Given the description of an element on the screen output the (x, y) to click on. 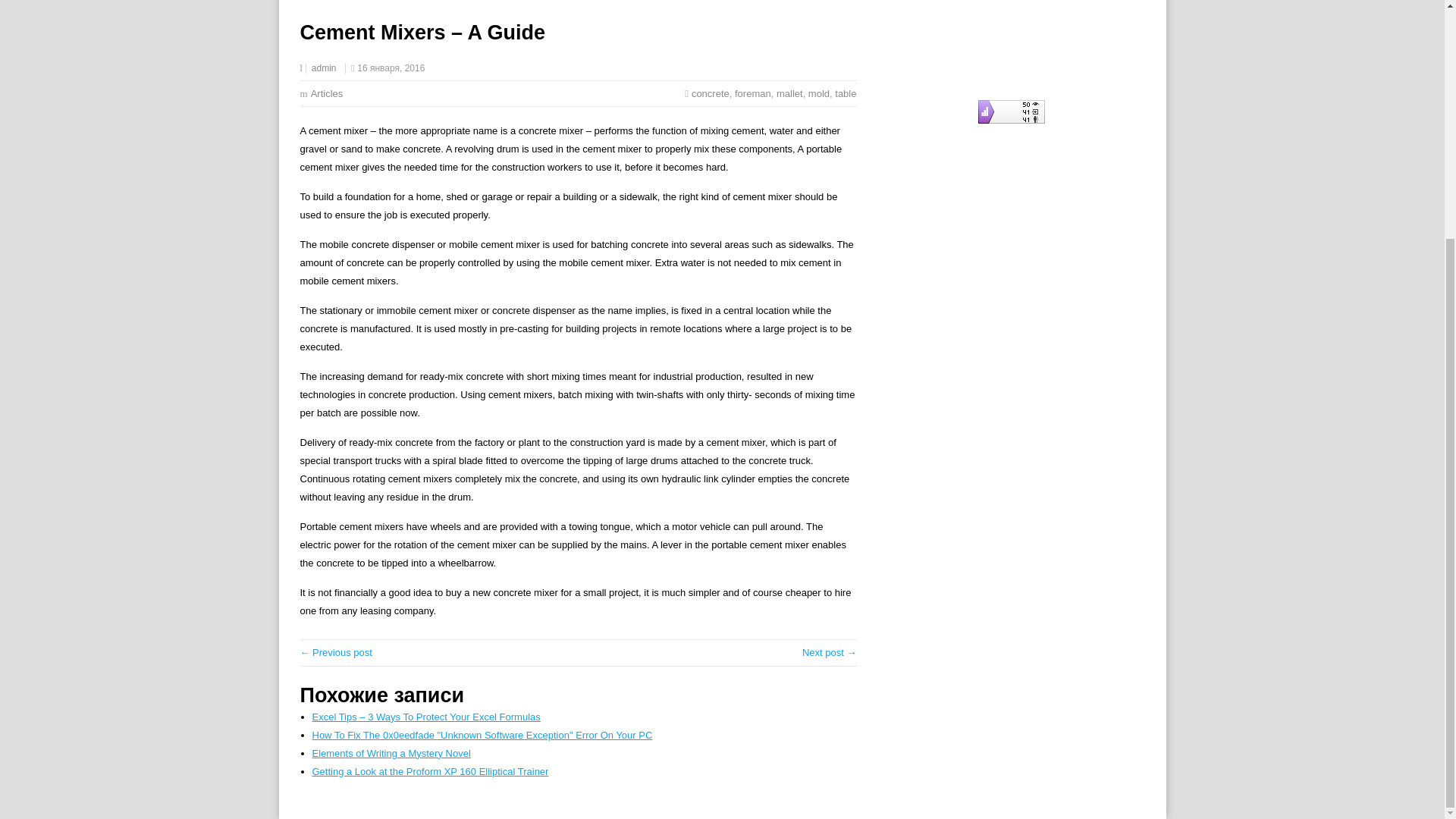
concrete (710, 93)
mallet (789, 93)
Elements of Writing a Mystery Novel (391, 753)
3 Primary Causes of Broken Bolts (829, 652)
admin (323, 68)
mold (818, 93)
table (845, 93)
Getting a Look at the Proform XP 160 Elliptical Trainer (430, 771)
